Given the description of an element on the screen output the (x, y) to click on. 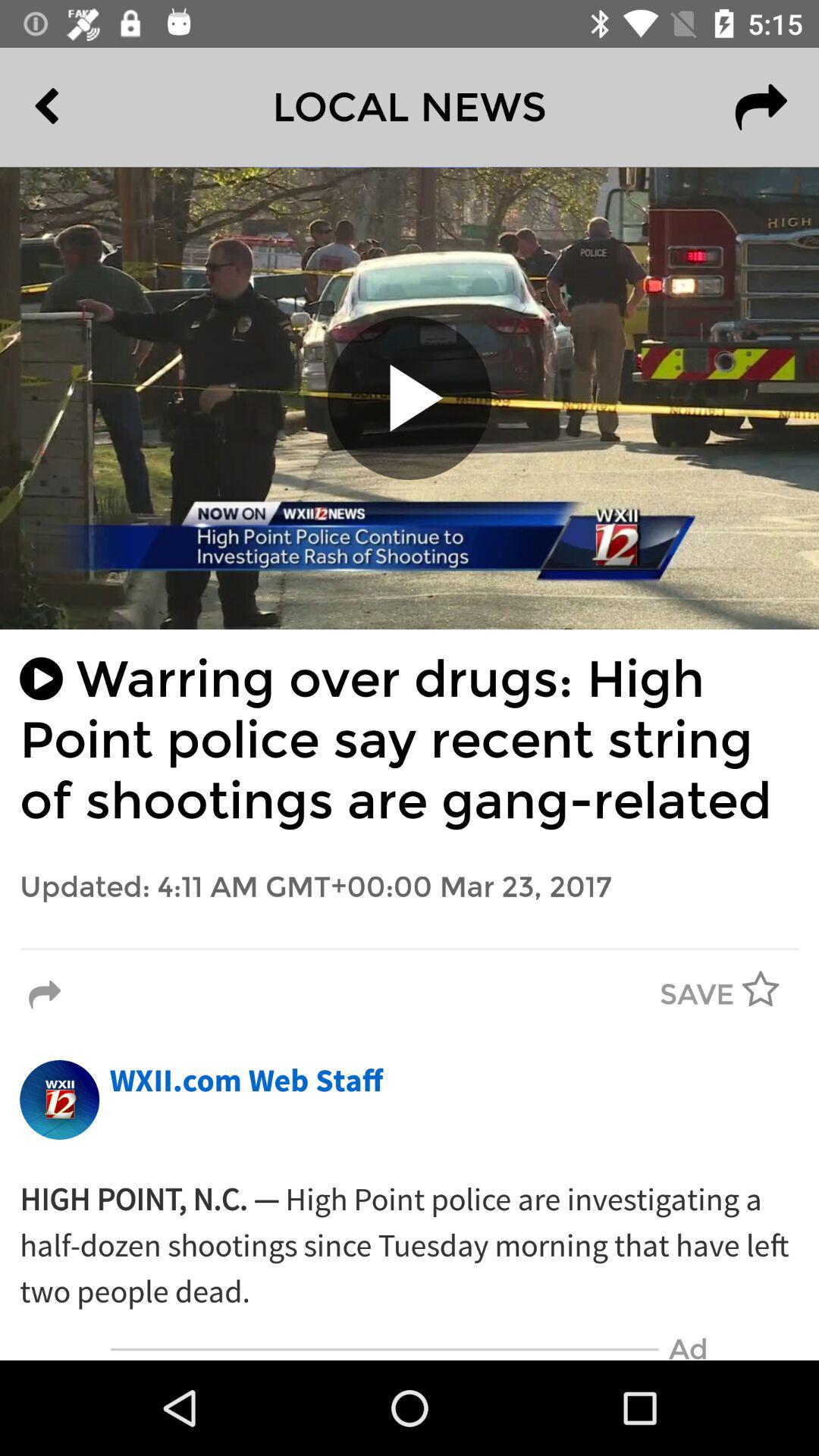
tap the item to the left of the ad icon (384, 1349)
